Given the description of an element on the screen output the (x, y) to click on. 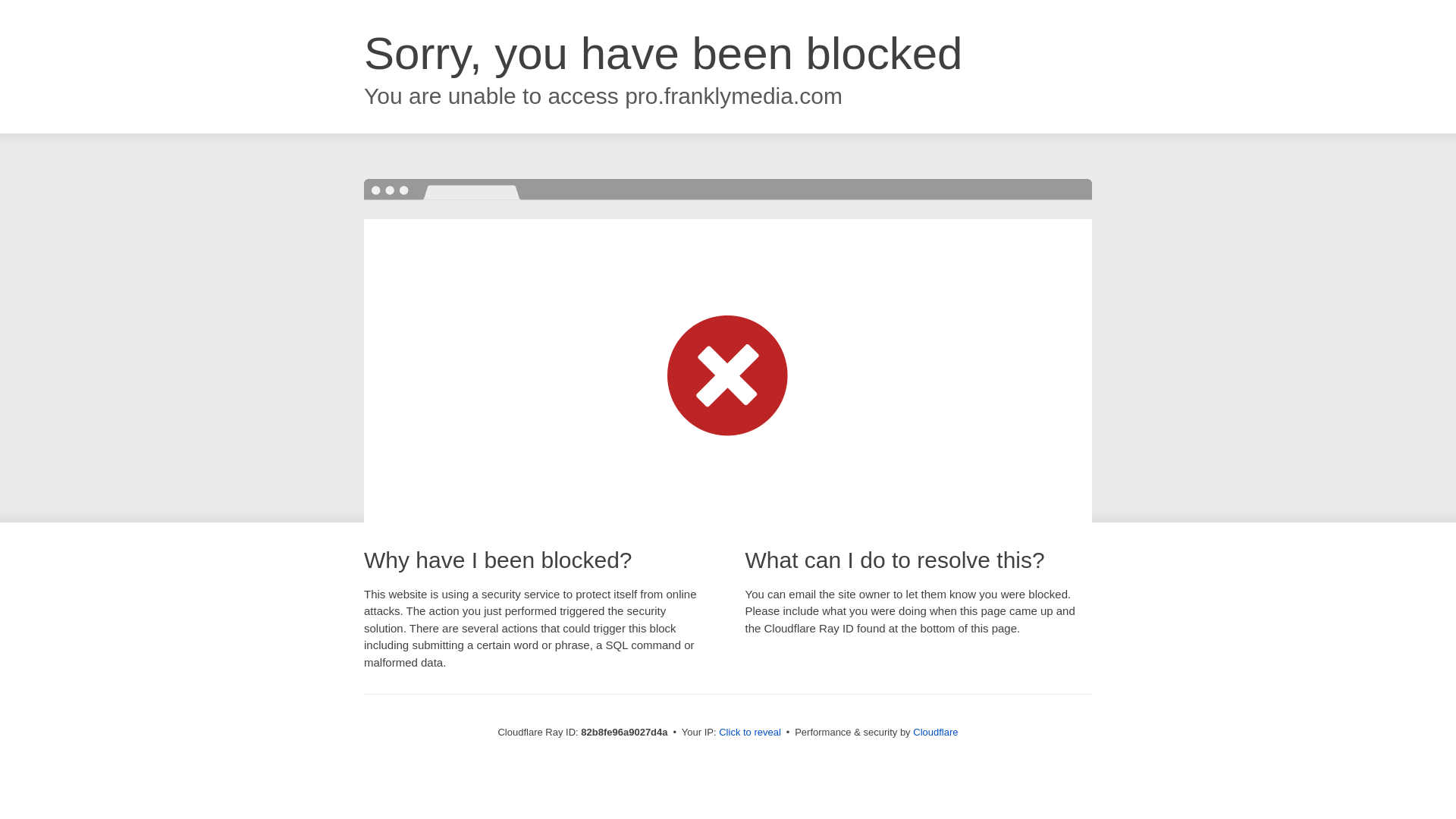
Click to reveal Element type: text (749, 732)
Cloudflare Element type: text (935, 731)
